Given the description of an element on the screen output the (x, y) to click on. 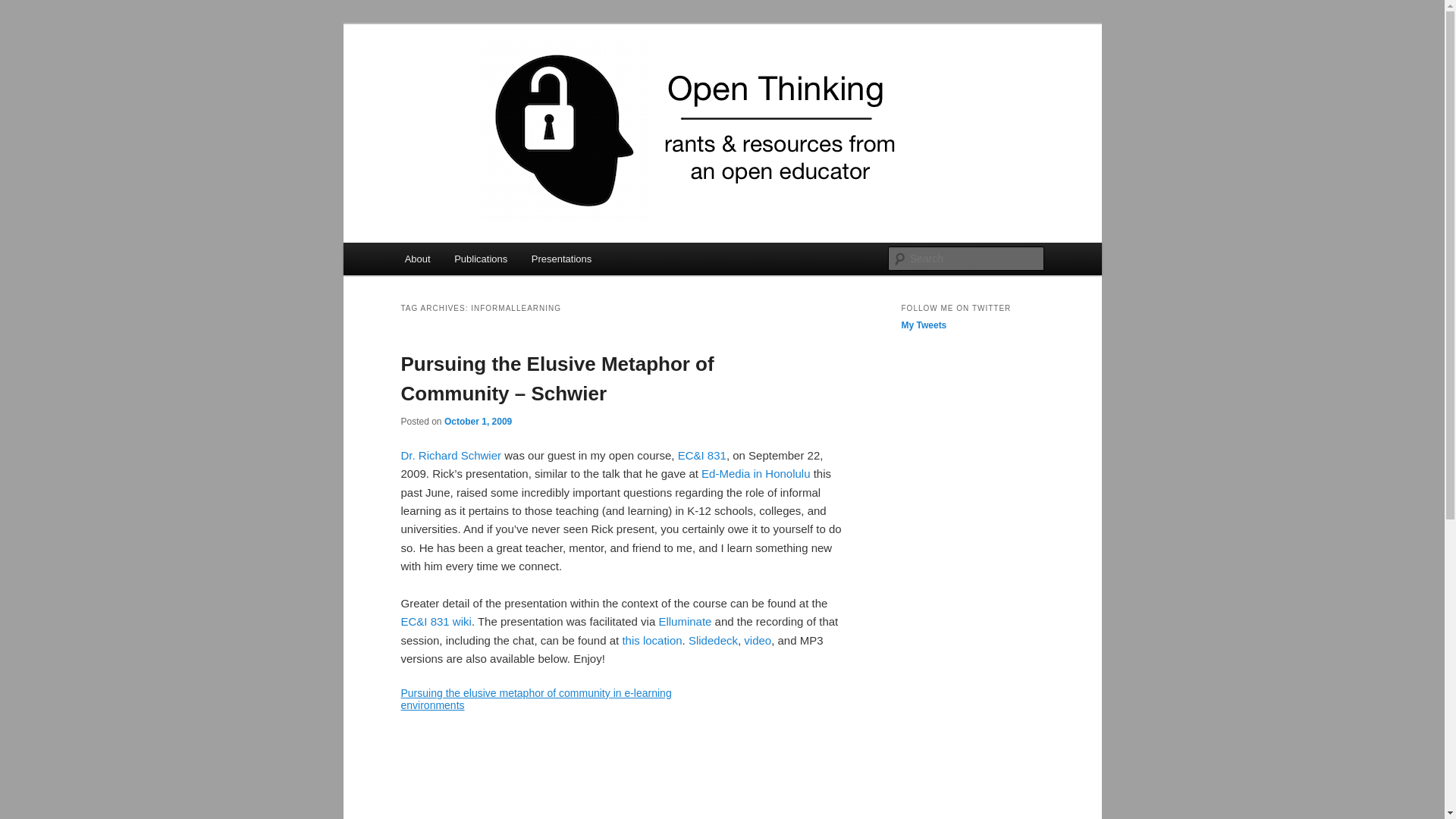
open thinking (475, 78)
video (757, 640)
Search (24, 8)
this location (651, 640)
Slidedeck (713, 640)
Ed-Media in Honolulu (755, 472)
7:59 pm (478, 420)
Dr. Richard Schwier (450, 454)
About (417, 258)
Elluminate (684, 621)
Publications (480, 258)
October 1, 2009 (478, 420)
